Given the description of an element on the screen output the (x, y) to click on. 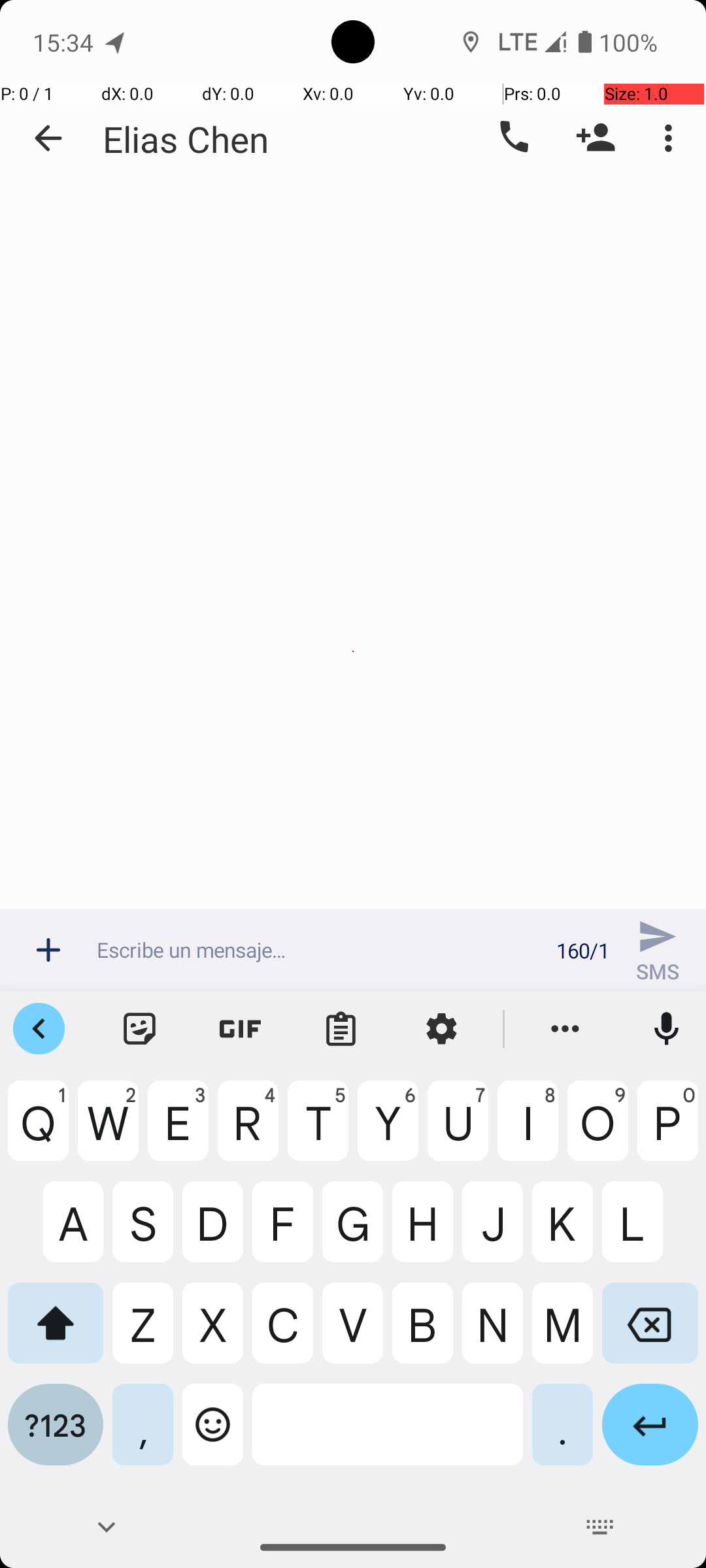
Elias Chen Element type: android.widget.TextView (185, 138)
Marcar número Element type: android.widget.Button (512, 137)
Añadir persona Element type: android.widget.Button (595, 137)
Archivo adjunto Element type: android.widget.ImageView (48, 949)
Escribe un mensaje… Element type: android.widget.EditText (318, 949)
